Given the description of an element on the screen output the (x, y) to click on. 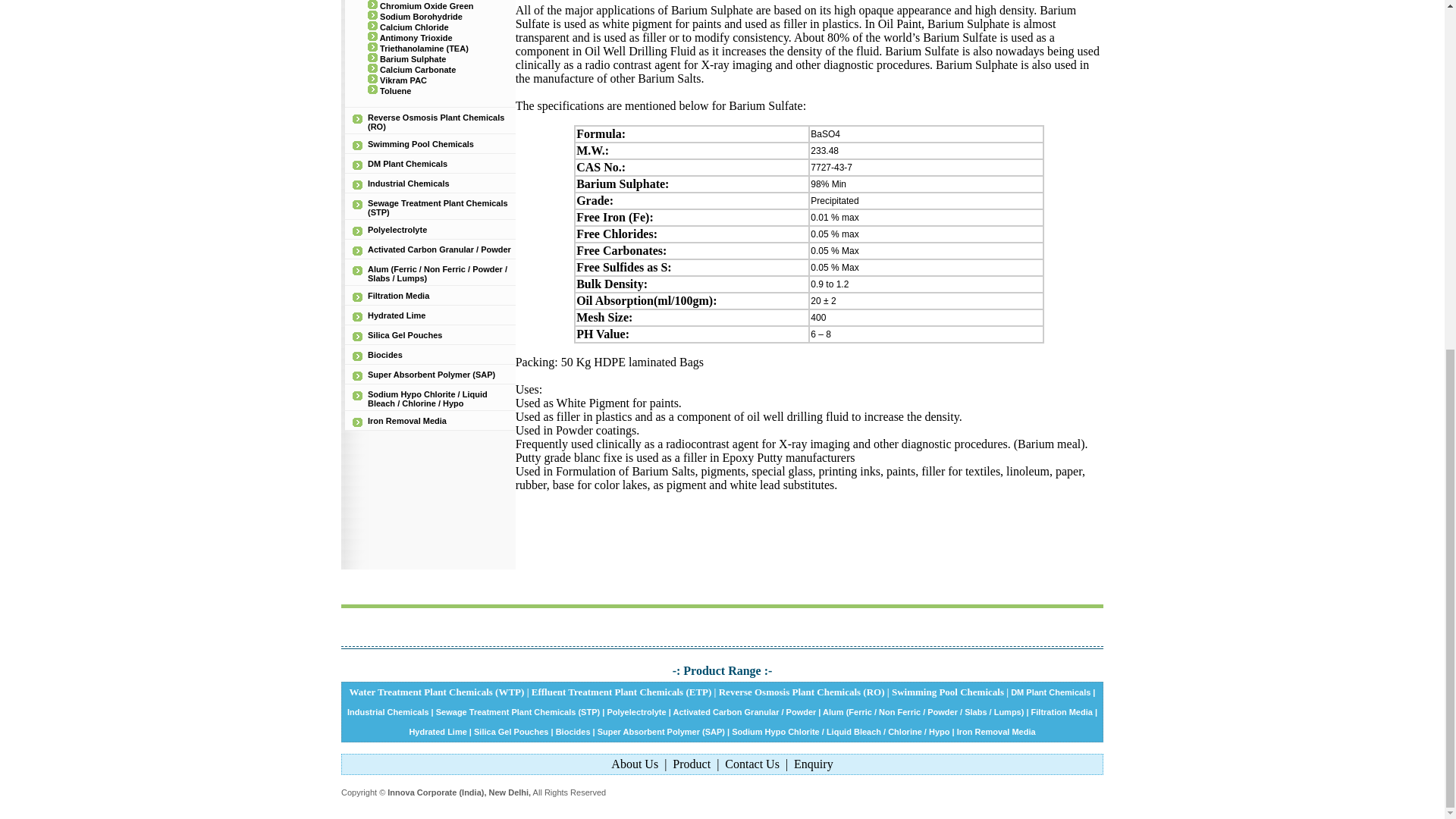
Chromium Oxide Green (426, 5)
Calcium Carbonate (417, 69)
Toluene (395, 90)
Antimony Trioxide (416, 37)
Sodium Borohydride (421, 16)
Barium Sulphate (412, 58)
Vikram PAC (403, 80)
Calcium Chloride (414, 26)
